Given the description of an element on the screen output the (x, y) to click on. 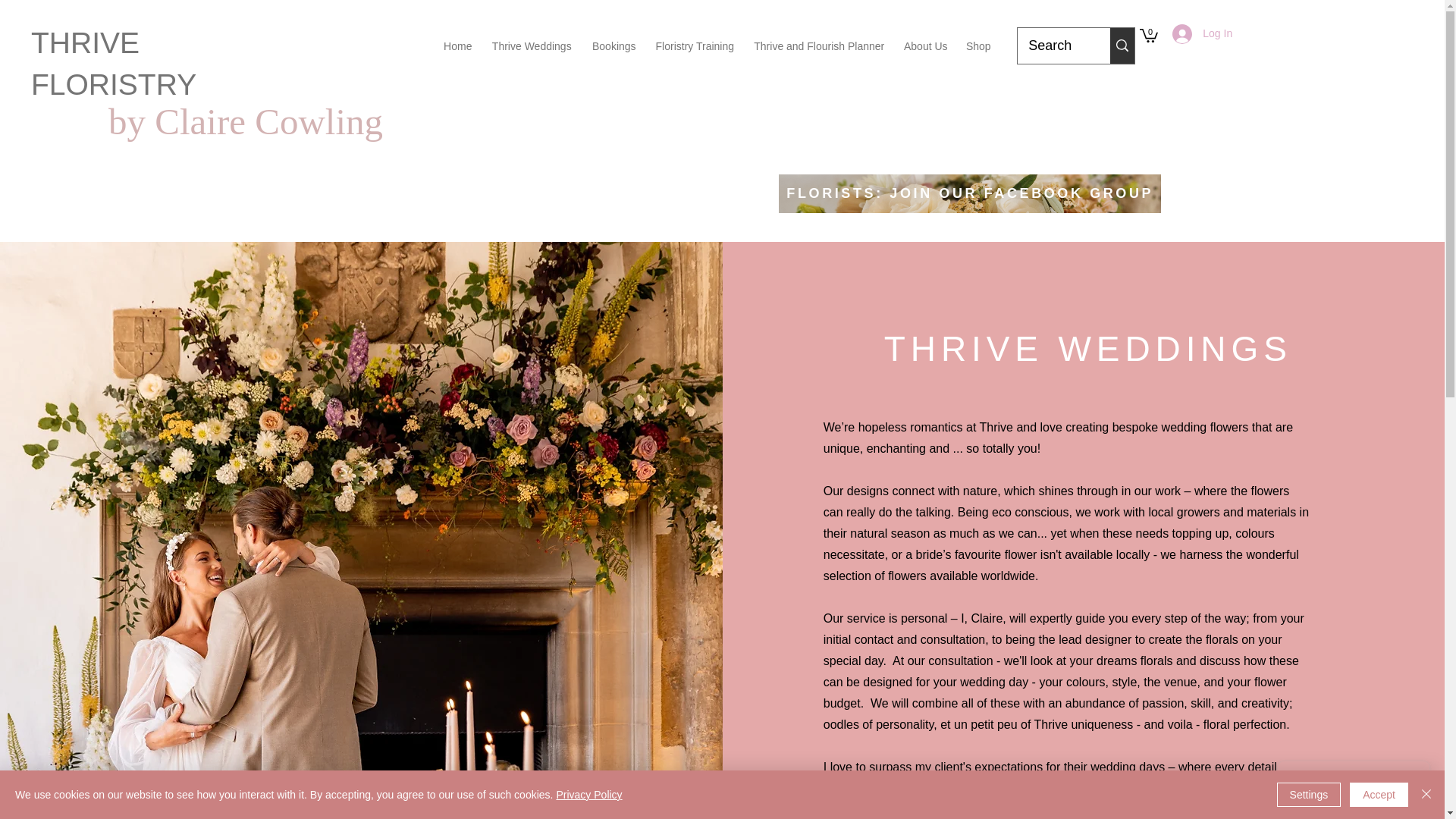
Bookings (613, 46)
Thrive Weddings (531, 46)
0 (1148, 34)
Thrive and Flourish Planner (818, 46)
About Us (924, 46)
THRIVE FLORISTRY (113, 63)
Floristry Training (694, 46)
Home (456, 46)
Shop (977, 46)
